Given the description of an element on the screen output the (x, y) to click on. 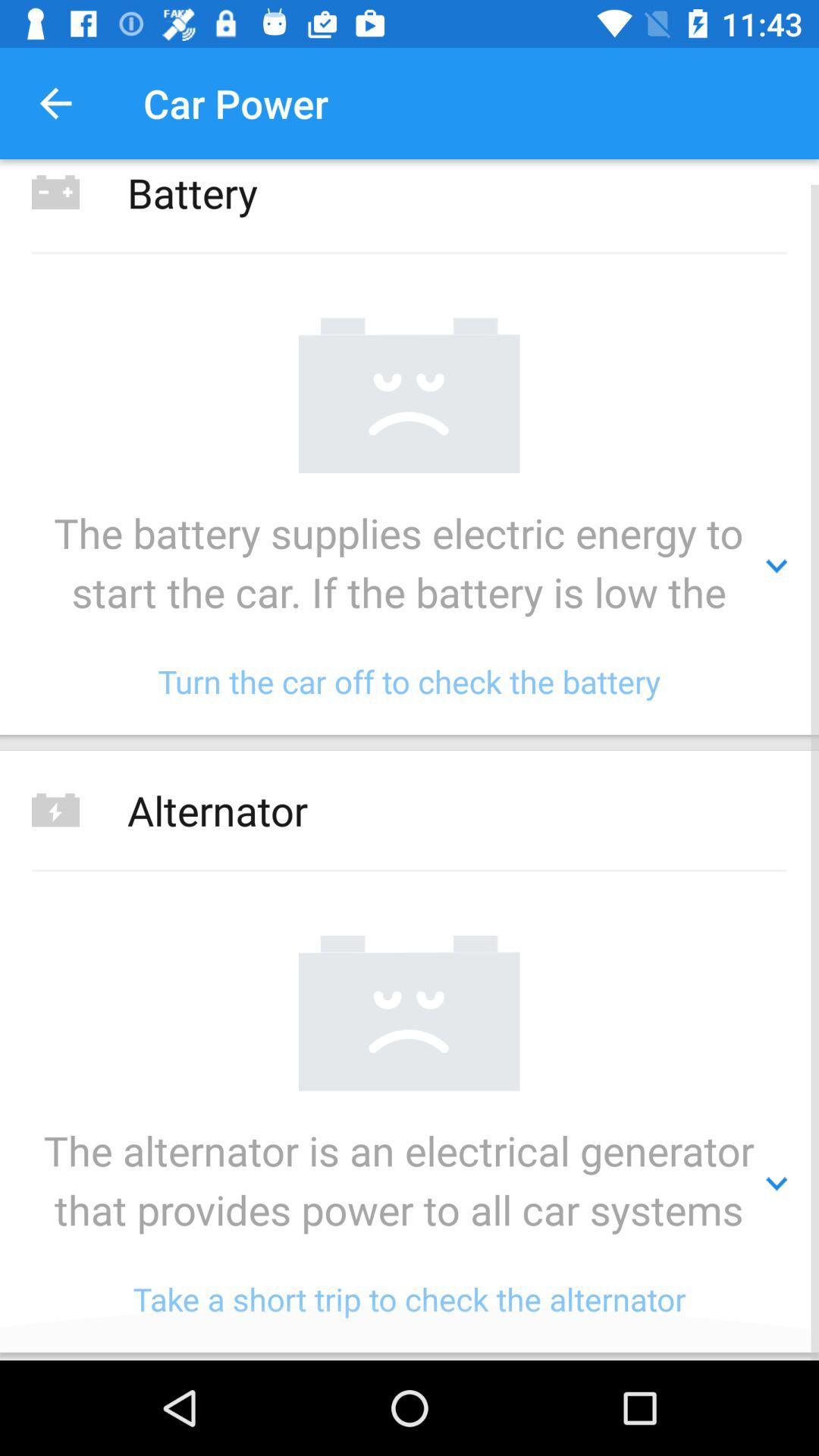
choose the item above the battery (55, 103)
